Given the description of an element on the screen output the (x, y) to click on. 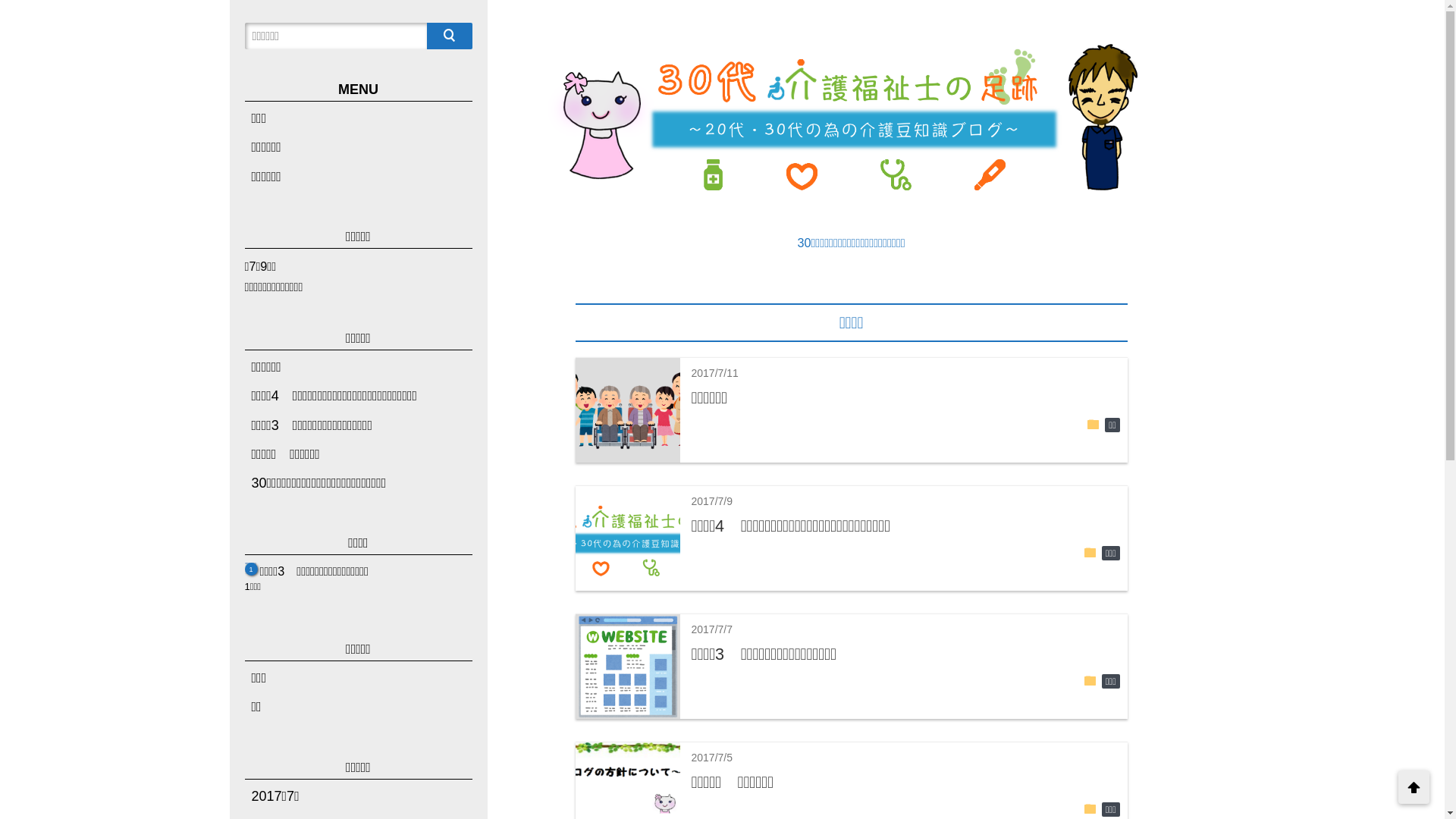
search Element type: text (448, 35)
